Given the description of an element on the screen output the (x, y) to click on. 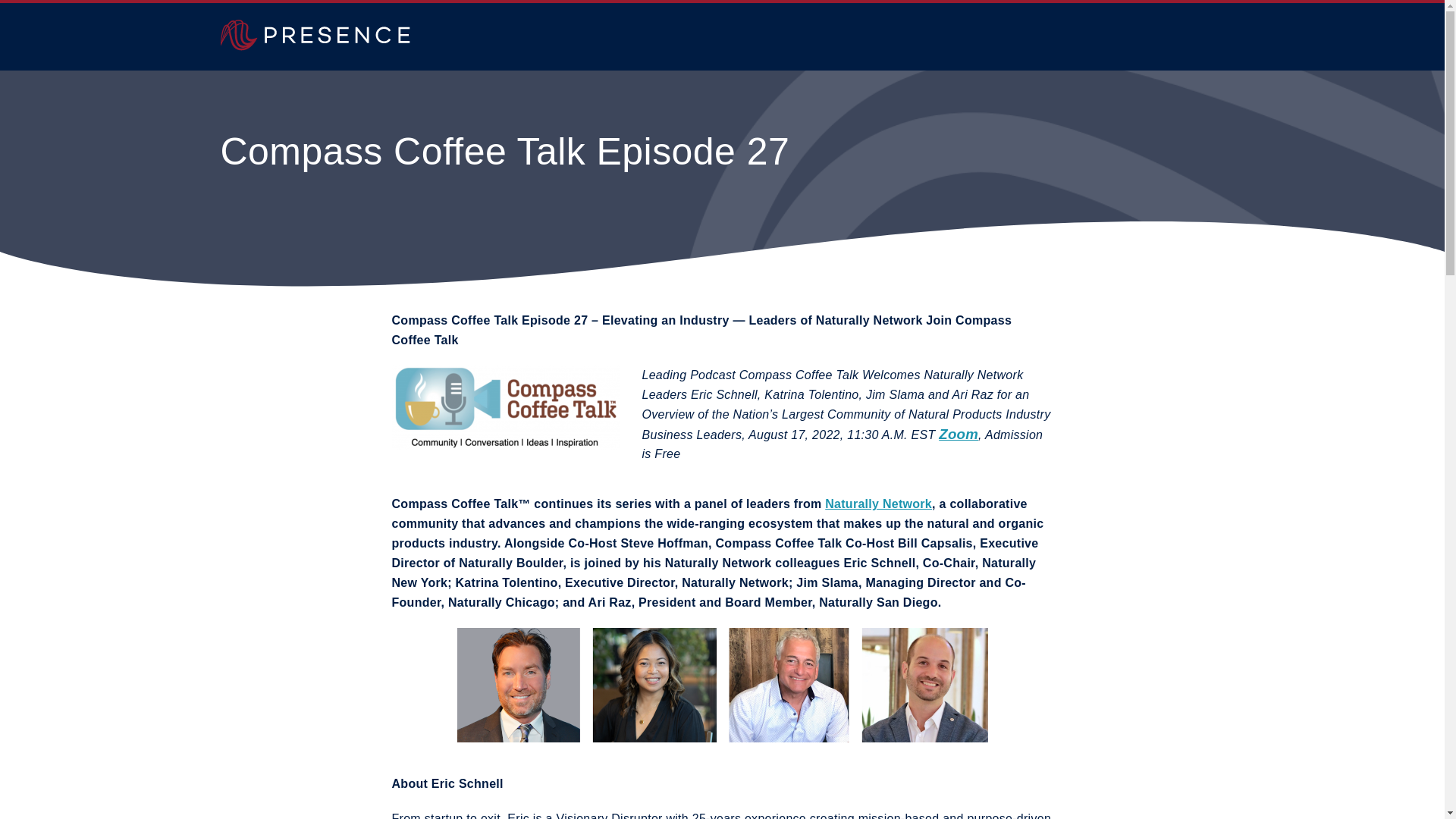
Zoom (958, 434)
Naturally Network (878, 503)
